Given the description of an element on the screen output the (x, y) to click on. 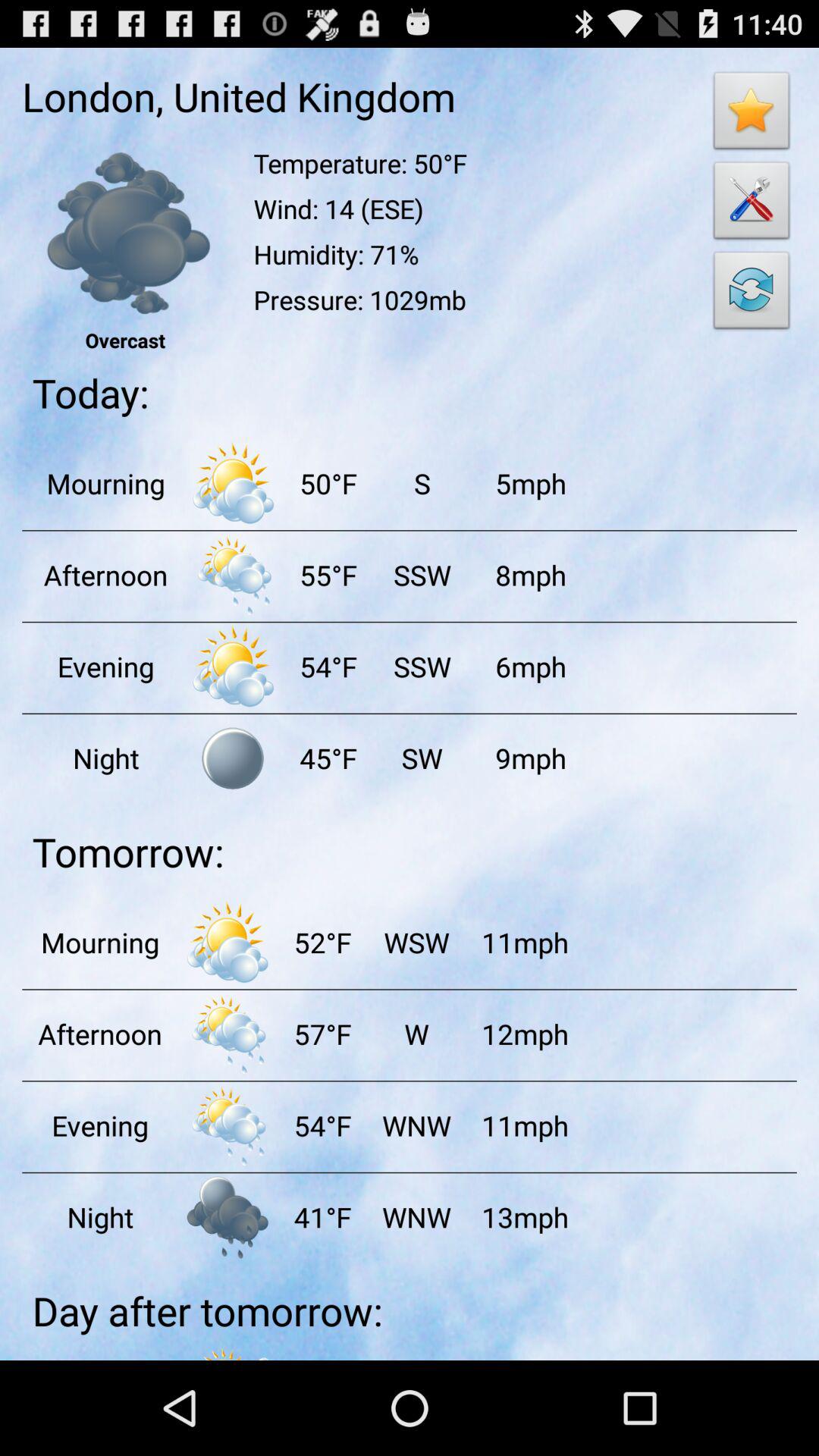
evening will be partly cloudly (232, 666)
